Given the description of an element on the screen output the (x, y) to click on. 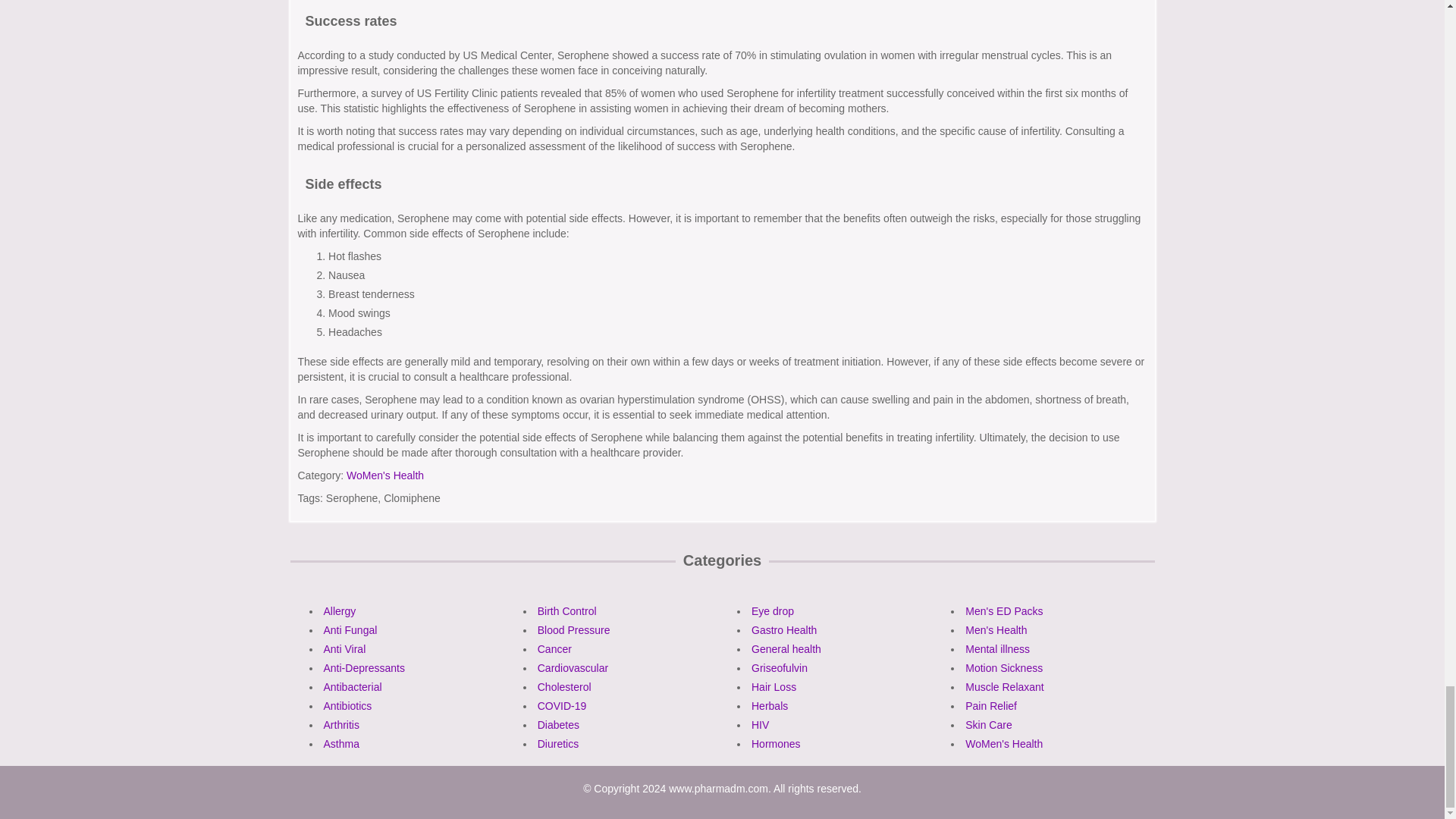
WoMen's Health (384, 475)
Hair Loss (773, 686)
Anti Fungal (350, 630)
Asthma (340, 743)
HIV (759, 725)
Anti-Depressants (363, 667)
Antibiotics (347, 705)
Diabetes (558, 725)
Cardiovascular (572, 667)
Birth Control (566, 611)
